Given the description of an element on the screen output the (x, y) to click on. 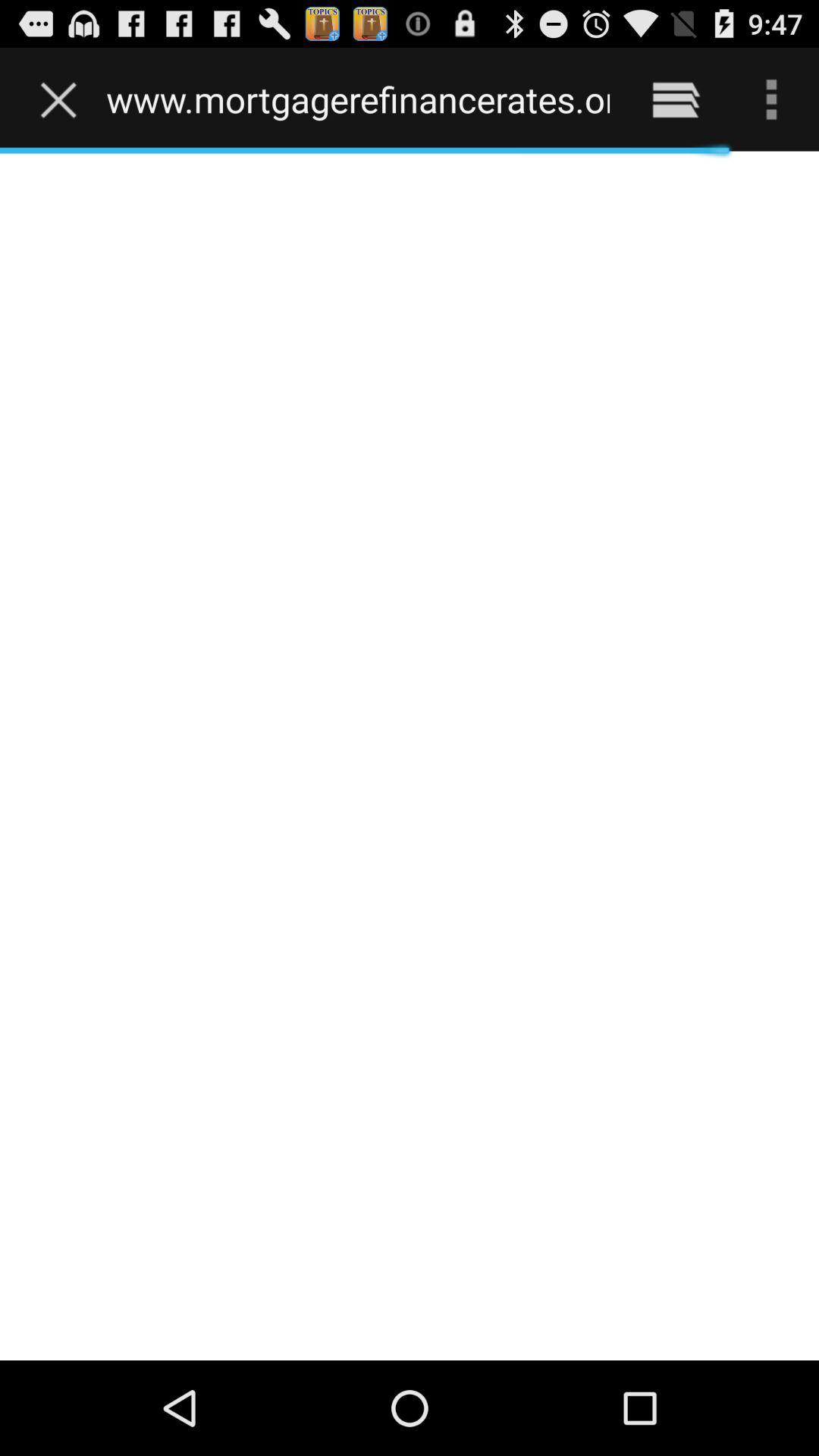
launch the item next to www mortgagerefinancerates org (675, 99)
